Given the description of an element on the screen output the (x, y) to click on. 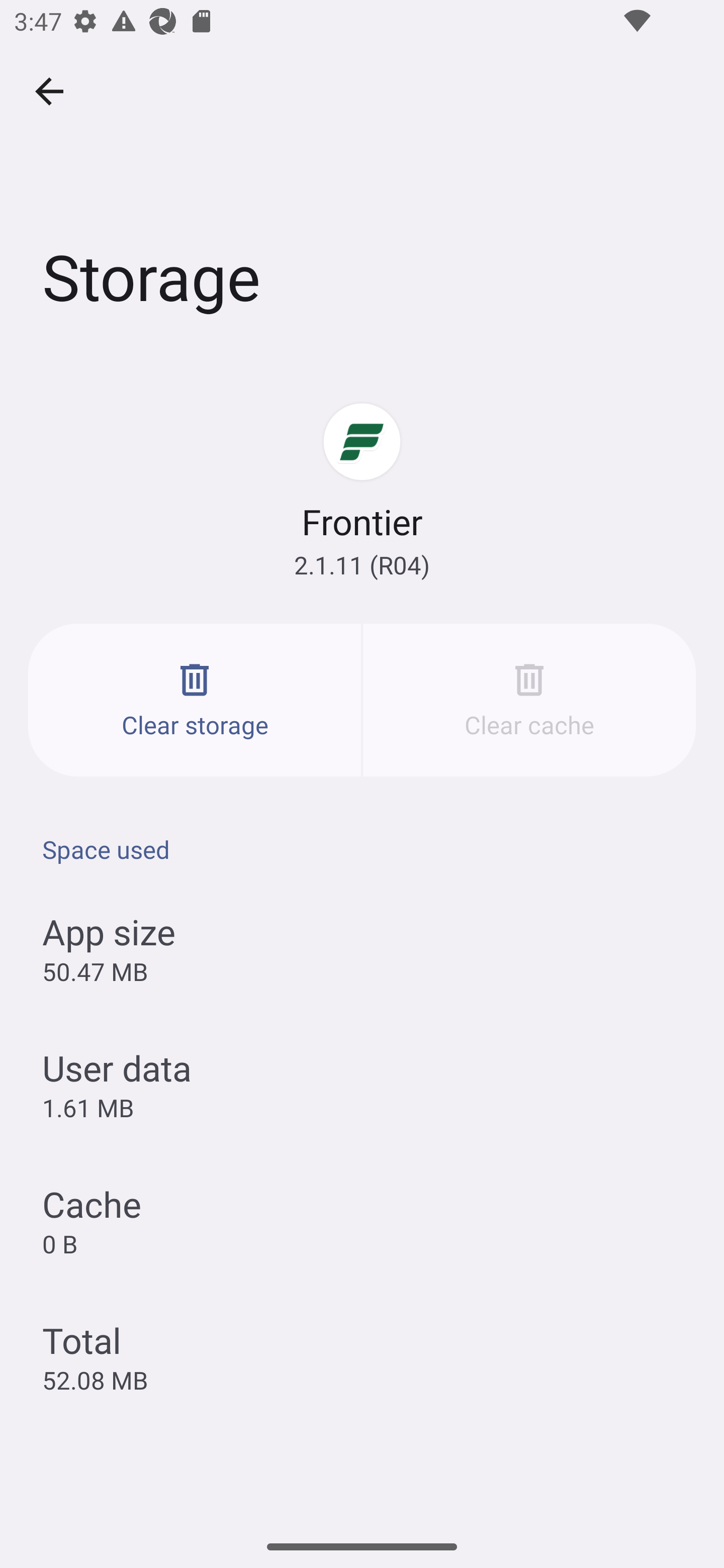
Navigate up (49, 91)
Frontier 2.1.11 (R04) (361, 490)
Clear storage (194, 700)
Clear cache (528, 700)
